Given the description of an element on the screen output the (x, y) to click on. 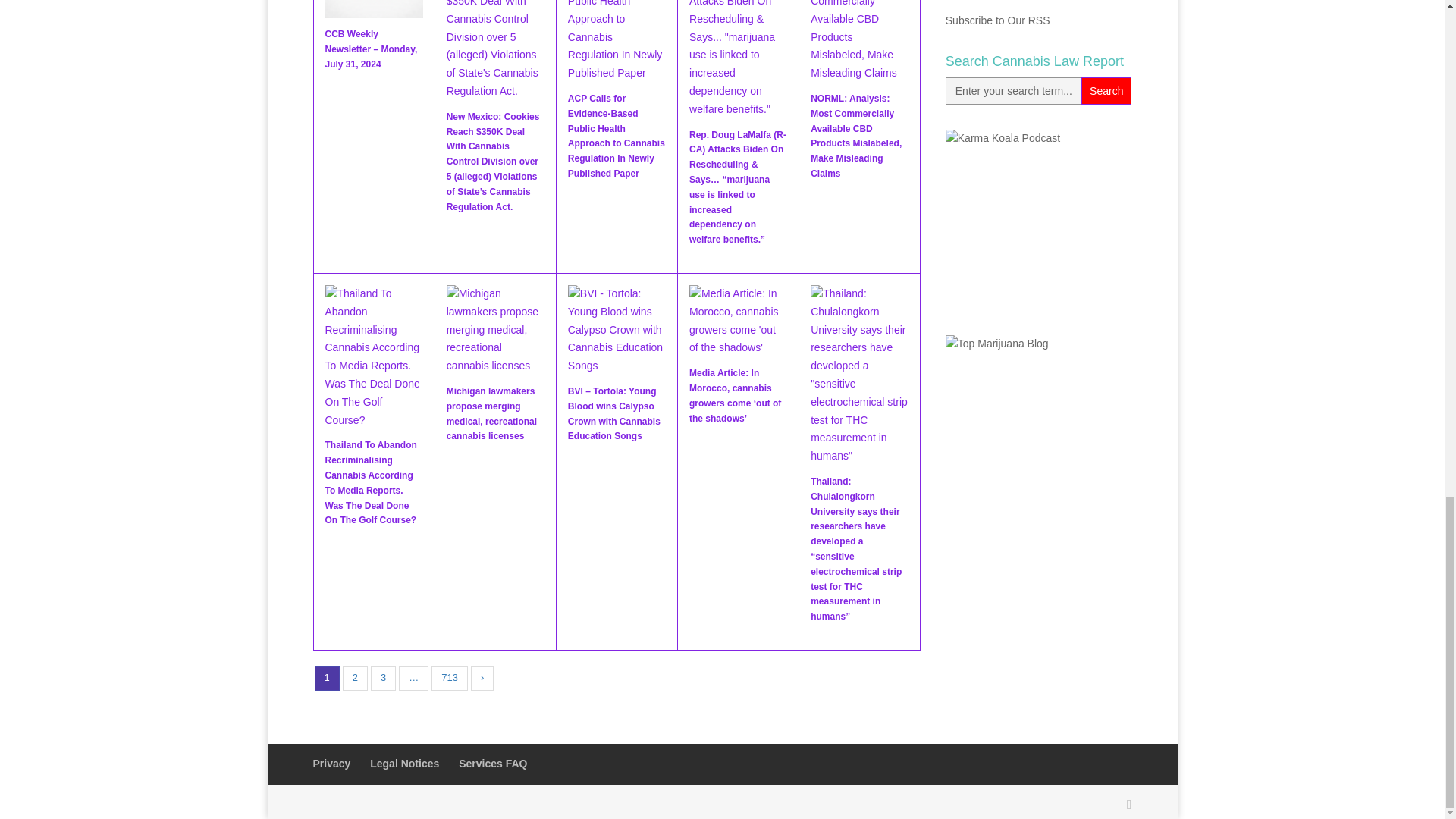
Search (1106, 90)
Search (1106, 90)
